Given the description of an element on the screen output the (x, y) to click on. 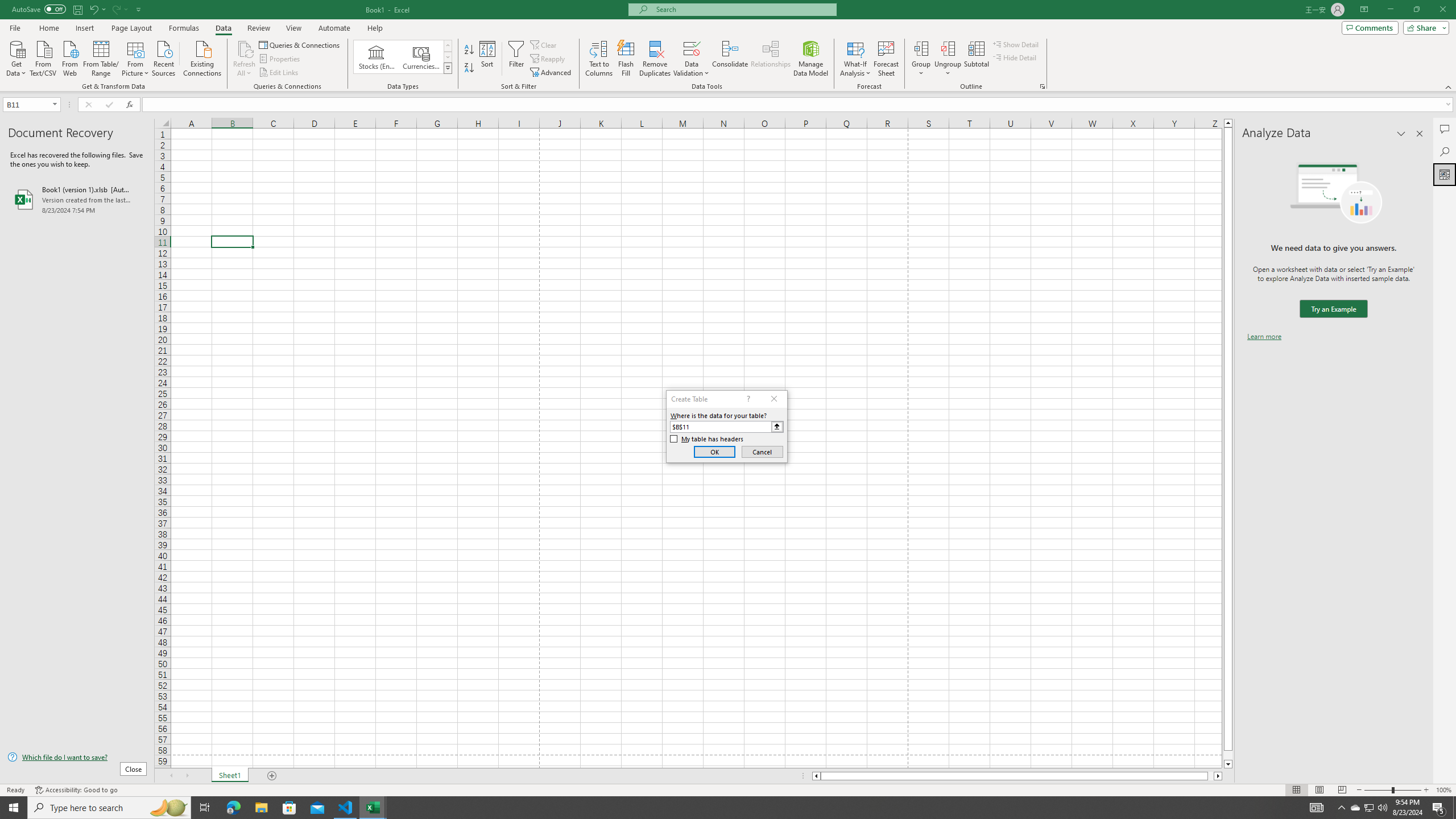
Group and Outline Settings (1042, 85)
Search (1444, 151)
Properties (280, 58)
Sort... (487, 58)
Stocks (English) (375, 56)
From Table/Range (100, 57)
Consolidate... (729, 58)
Sort Z to A (469, 67)
Advanced... (551, 72)
Formula Bar (799, 104)
